Given the description of an element on the screen output the (x, y) to click on. 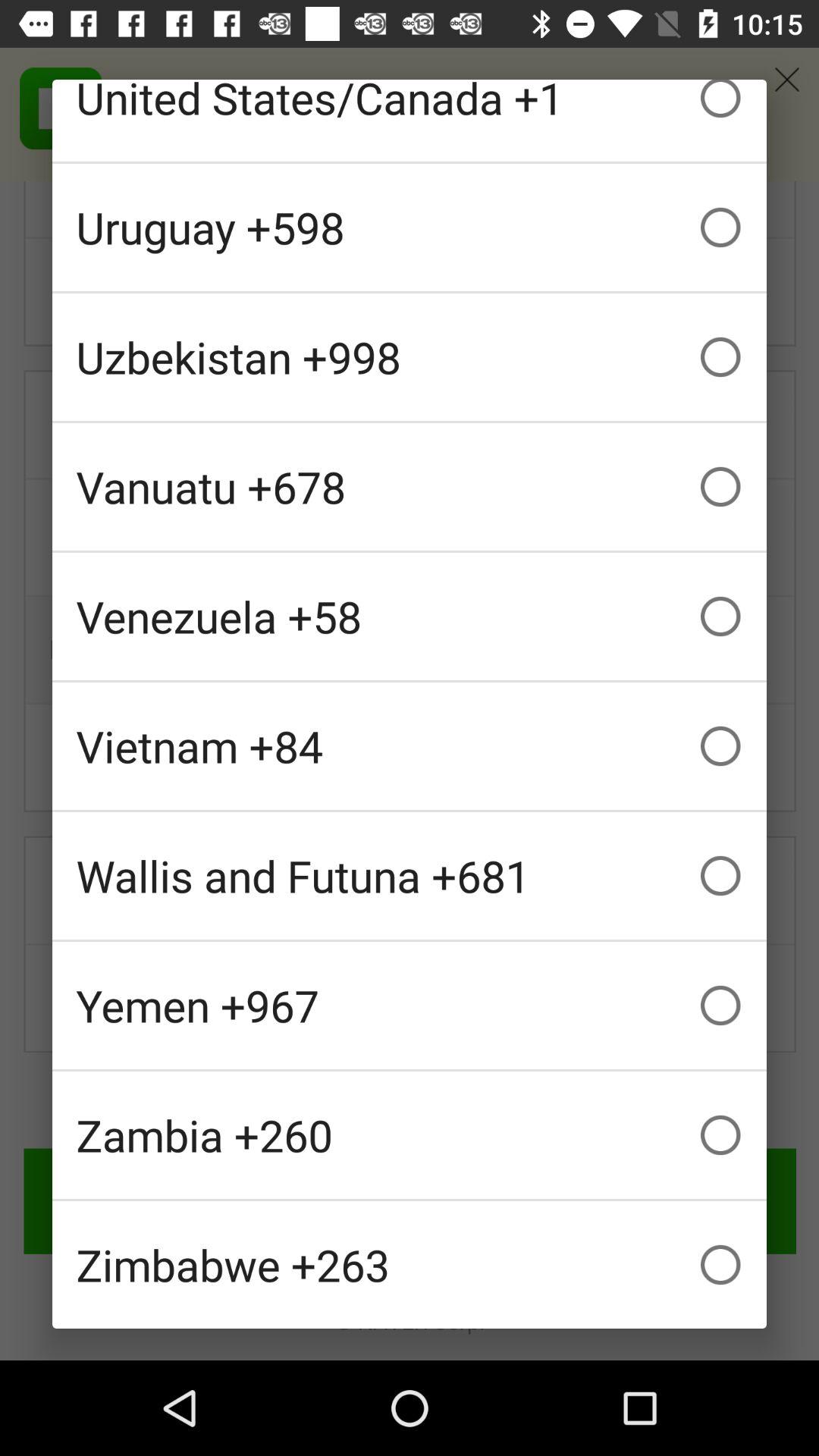
choose the icon above zimbabwe +263 checkbox (409, 1134)
